Given the description of an element on the screen output the (x, y) to click on. 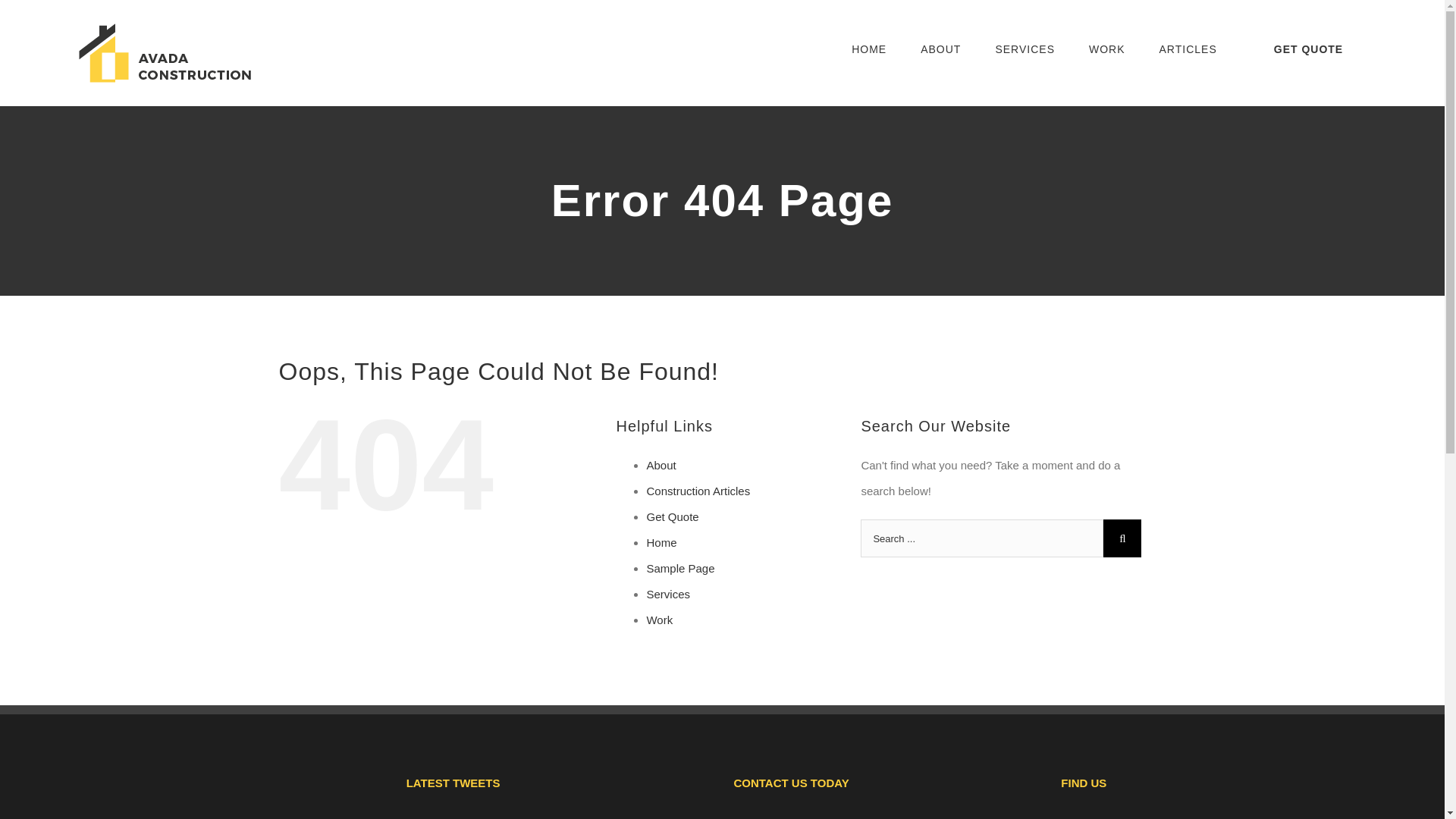
Construction Articles (697, 490)
About (660, 464)
Services (668, 594)
Get Quote (672, 516)
Home (661, 542)
Sample Page (680, 567)
GET QUOTE (1307, 49)
Work (659, 619)
